Given the description of an element on the screen output the (x, y) to click on. 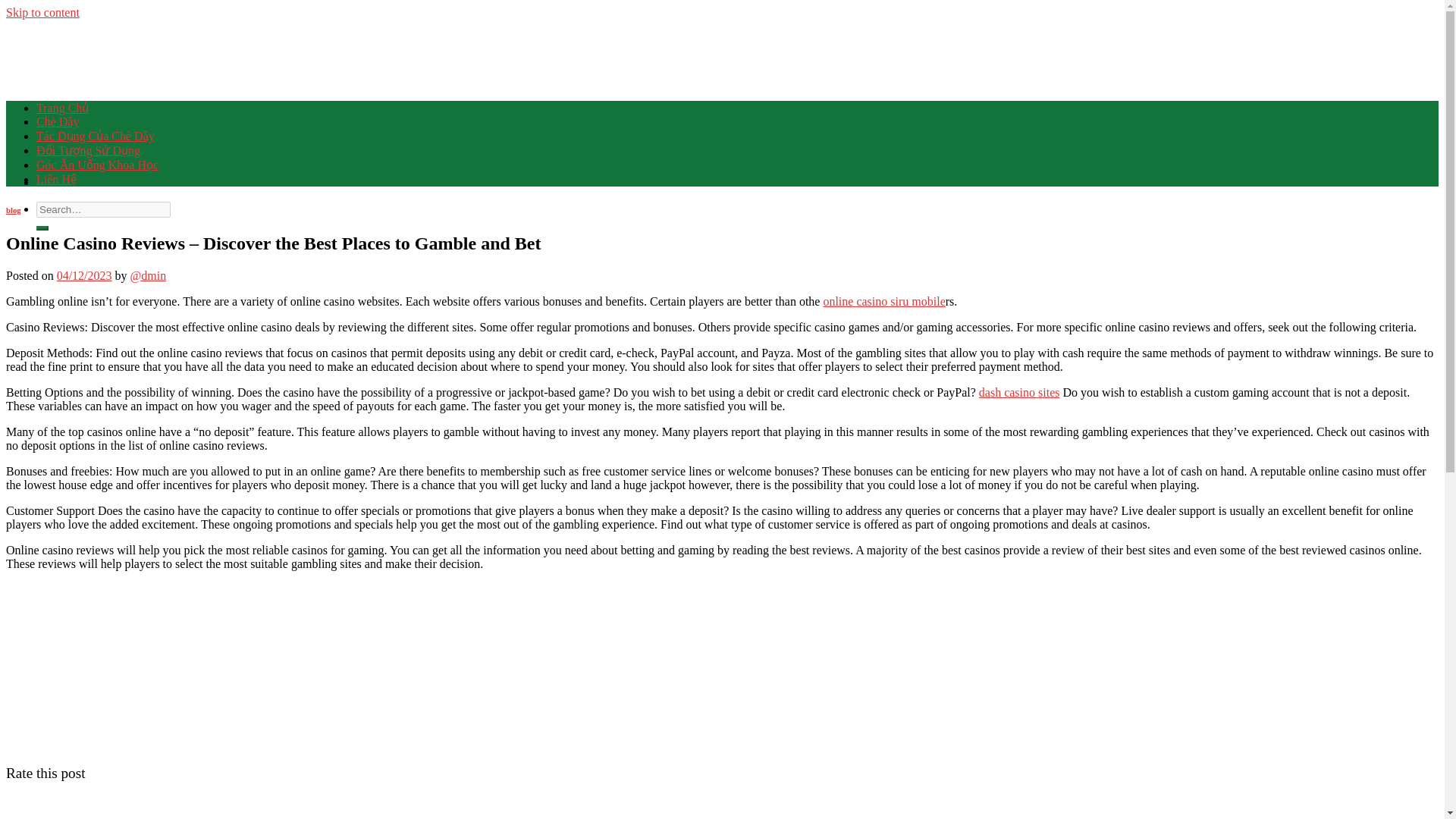
online casino siru mobile (883, 300)
blog (13, 209)
Skip to content (42, 11)
dash casino sites (1018, 391)
